Given the description of an element on the screen output the (x, y) to click on. 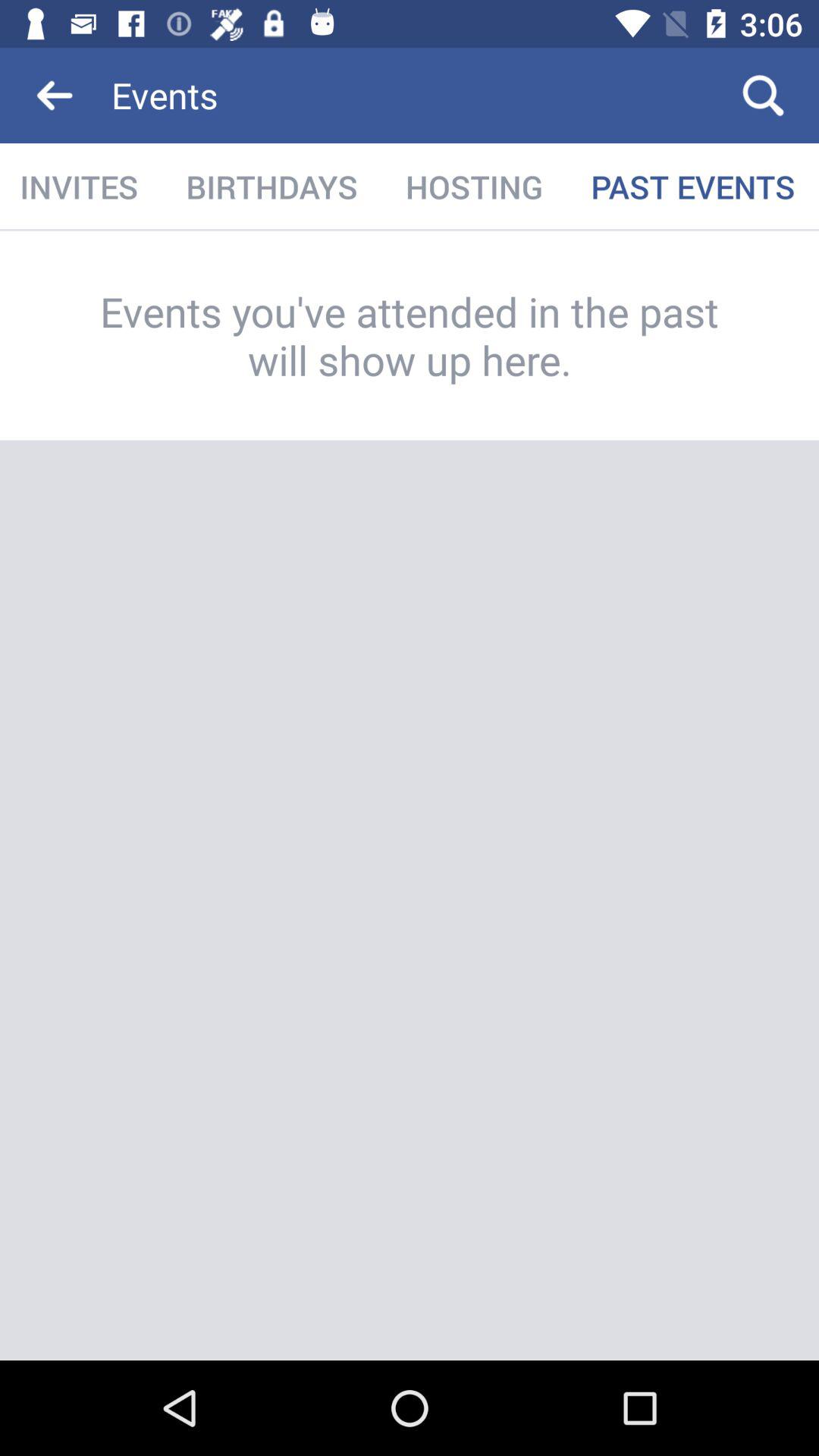
launch icon to the left of the birthdays item (81, 186)
